Given the description of an element on the screen output the (x, y) to click on. 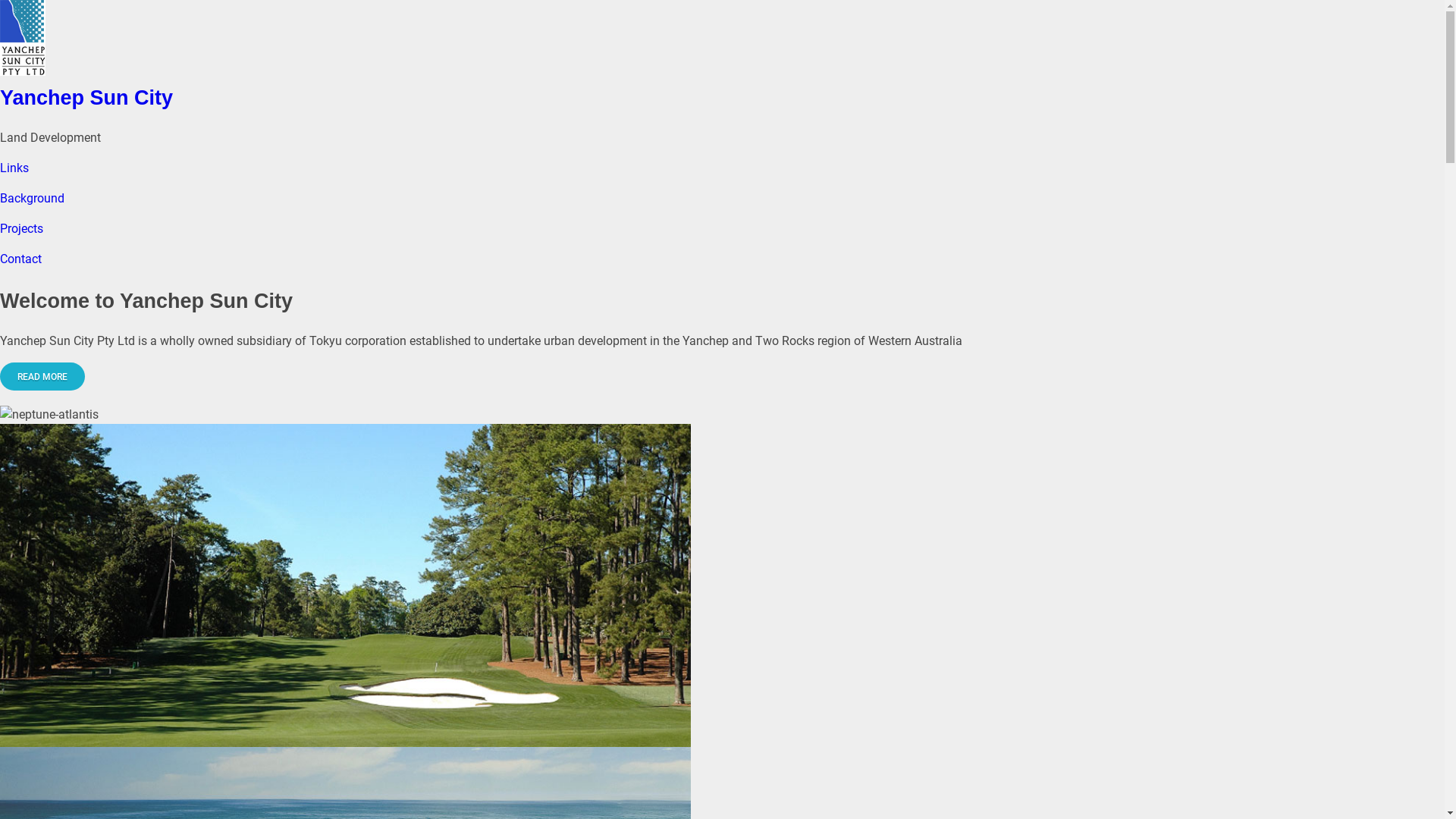
READ MORE Element type: text (42, 376)
Yanchep Sun City Element type: text (86, 97)
Background Element type: text (32, 198)
Links Element type: text (14, 167)
Contact Element type: text (20, 258)
Projects Element type: text (21, 228)
Yanchep Sun City Element type: hover (722, 37)
